Given the description of an element on the screen output the (x, y) to click on. 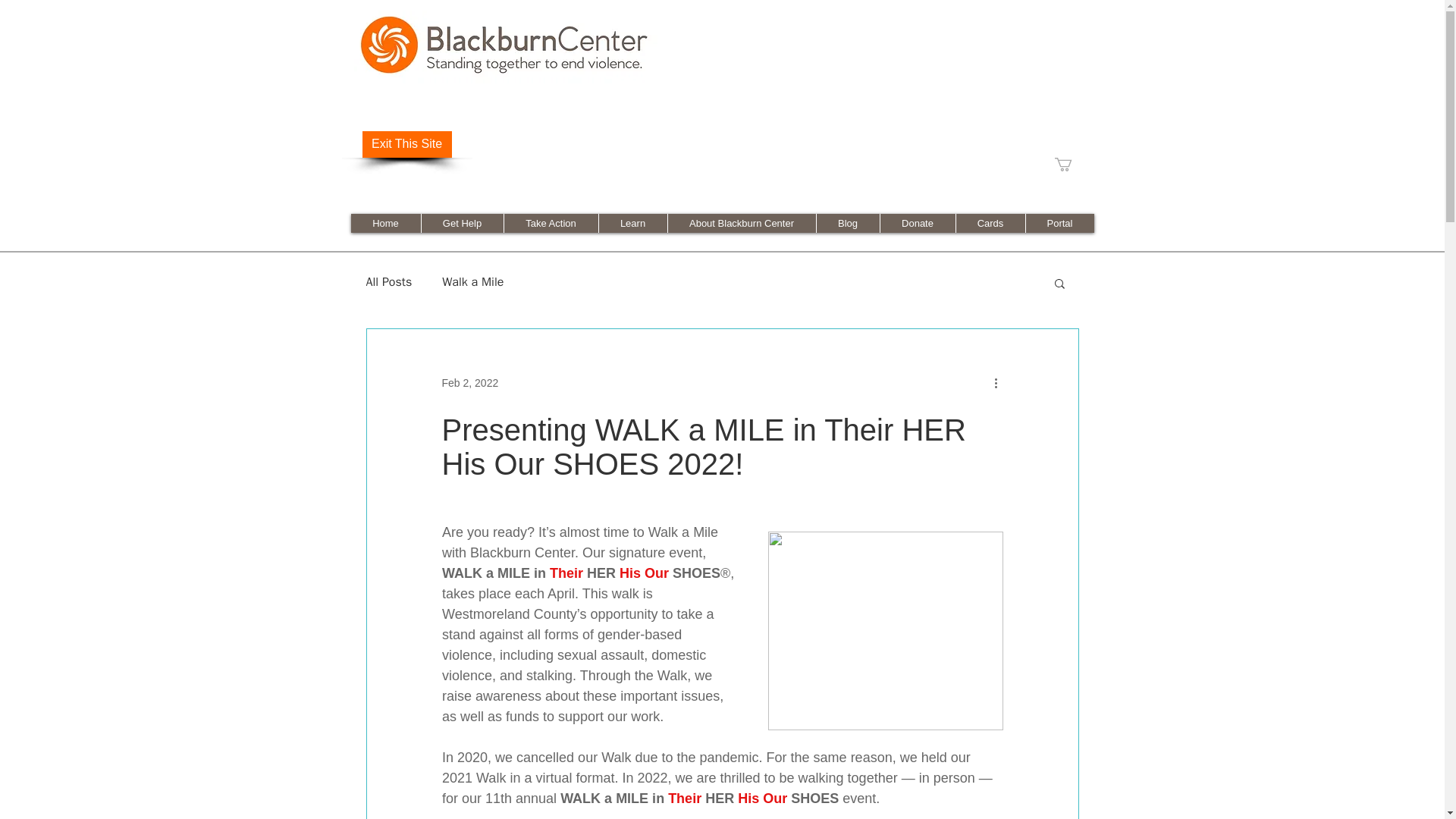
New Logo.jpg (505, 47)
Feb 2, 2022 (469, 382)
Get Help (461, 222)
Exit This Site (406, 144)
Take Action (550, 222)
Home (385, 222)
Learn (631, 222)
